Given the description of an element on the screen output the (x, y) to click on. 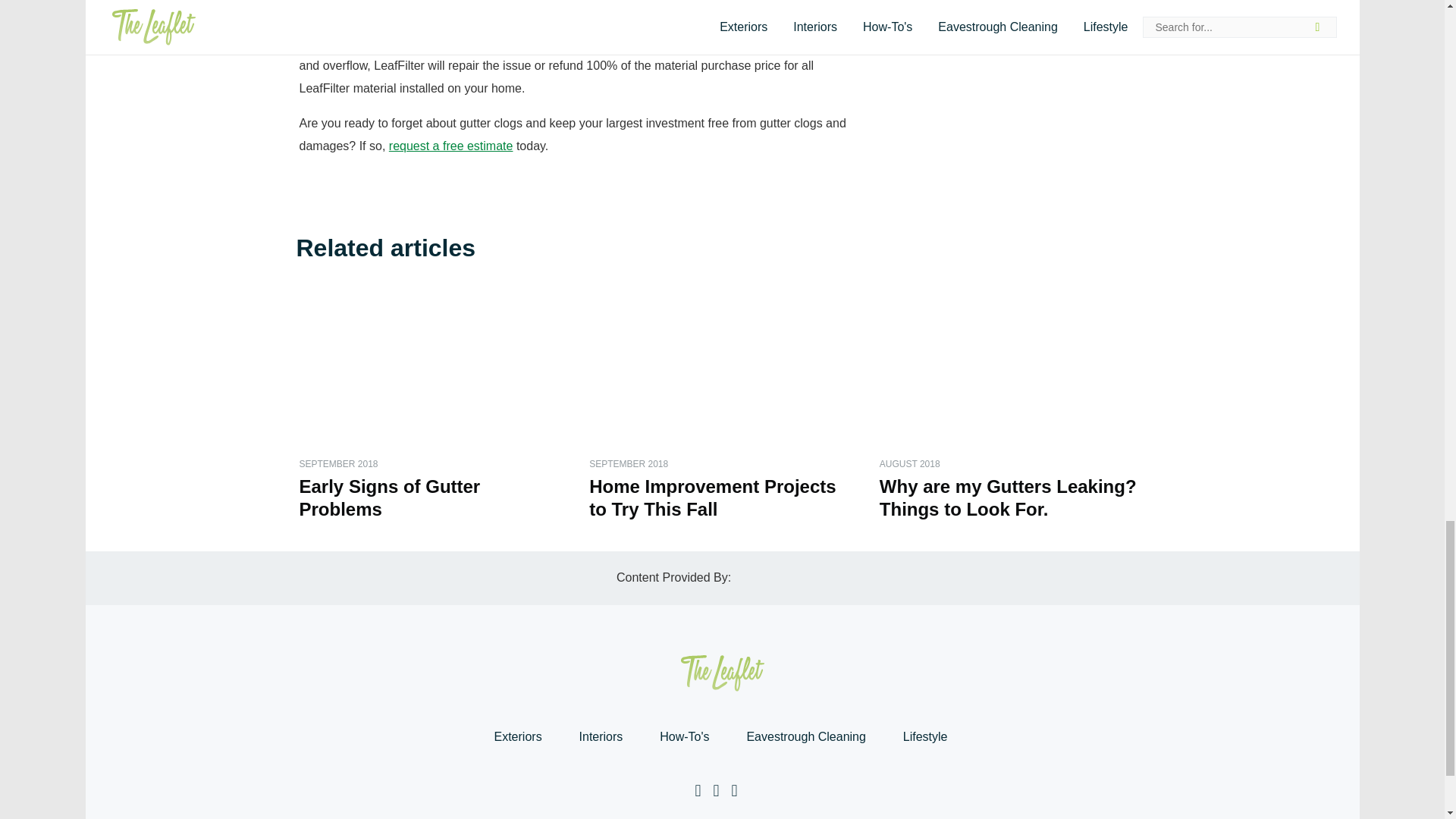
Lifestyle (925, 736)
Eavestrough Cleaning (805, 736)
Eavestrough Cleaning (805, 736)
How-To's (683, 736)
Exteriors (517, 736)
How-To's (683, 736)
Interiors (600, 736)
Interiors (600, 736)
Exteriors (517, 736)
Lifestyle (925, 736)
request a free estimate (450, 145)
